Given the description of an element on the screen output the (x, y) to click on. 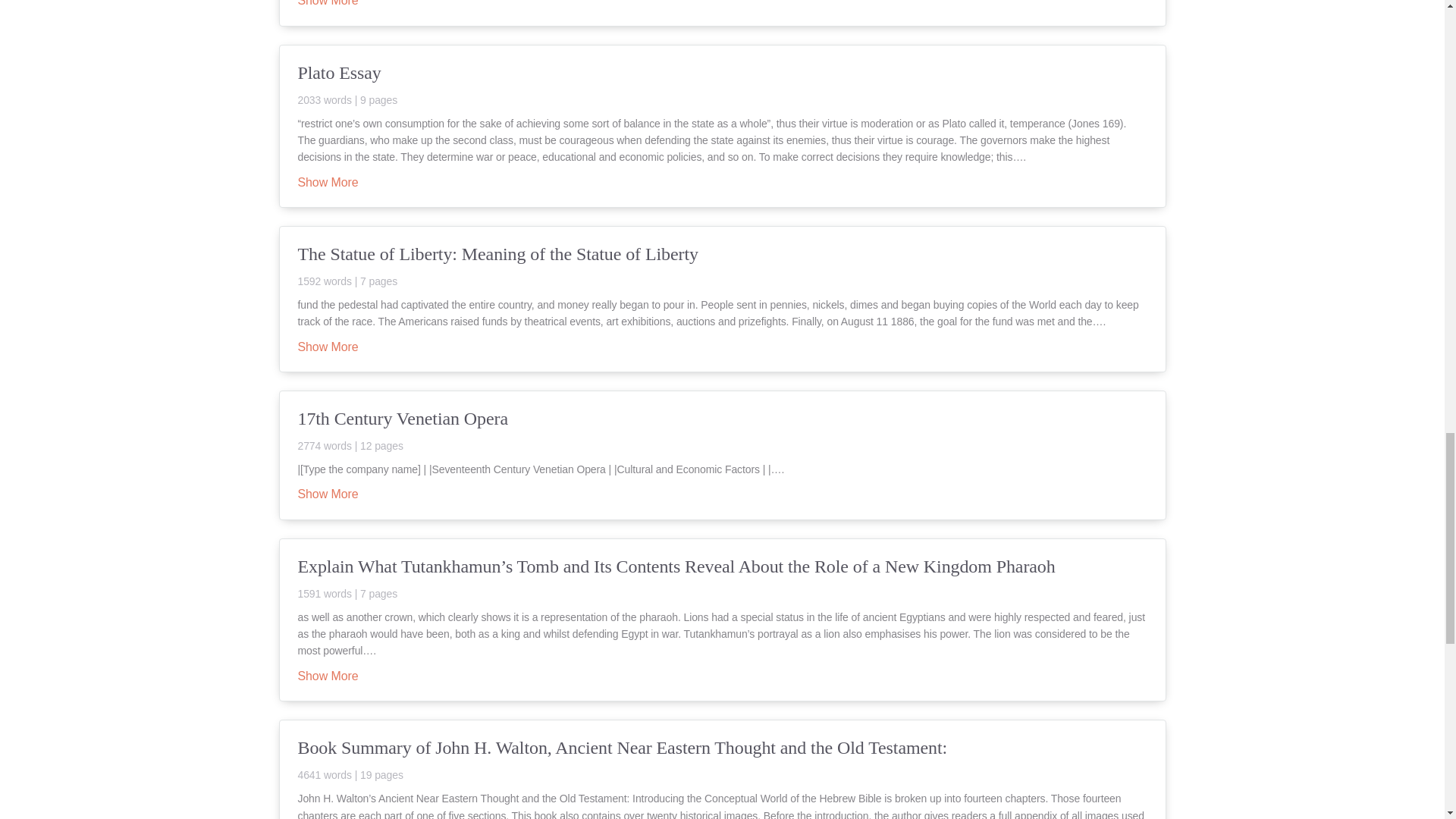
The Statue of Liberty: Meaning of the Statue of Liberty (722, 264)
Show More (327, 3)
17th Century Venetian Opera (722, 429)
Plato Essay (722, 83)
Show More (327, 676)
Show More (327, 347)
Show More (327, 183)
Show More (327, 494)
